Given the description of an element on the screen output the (x, y) to click on. 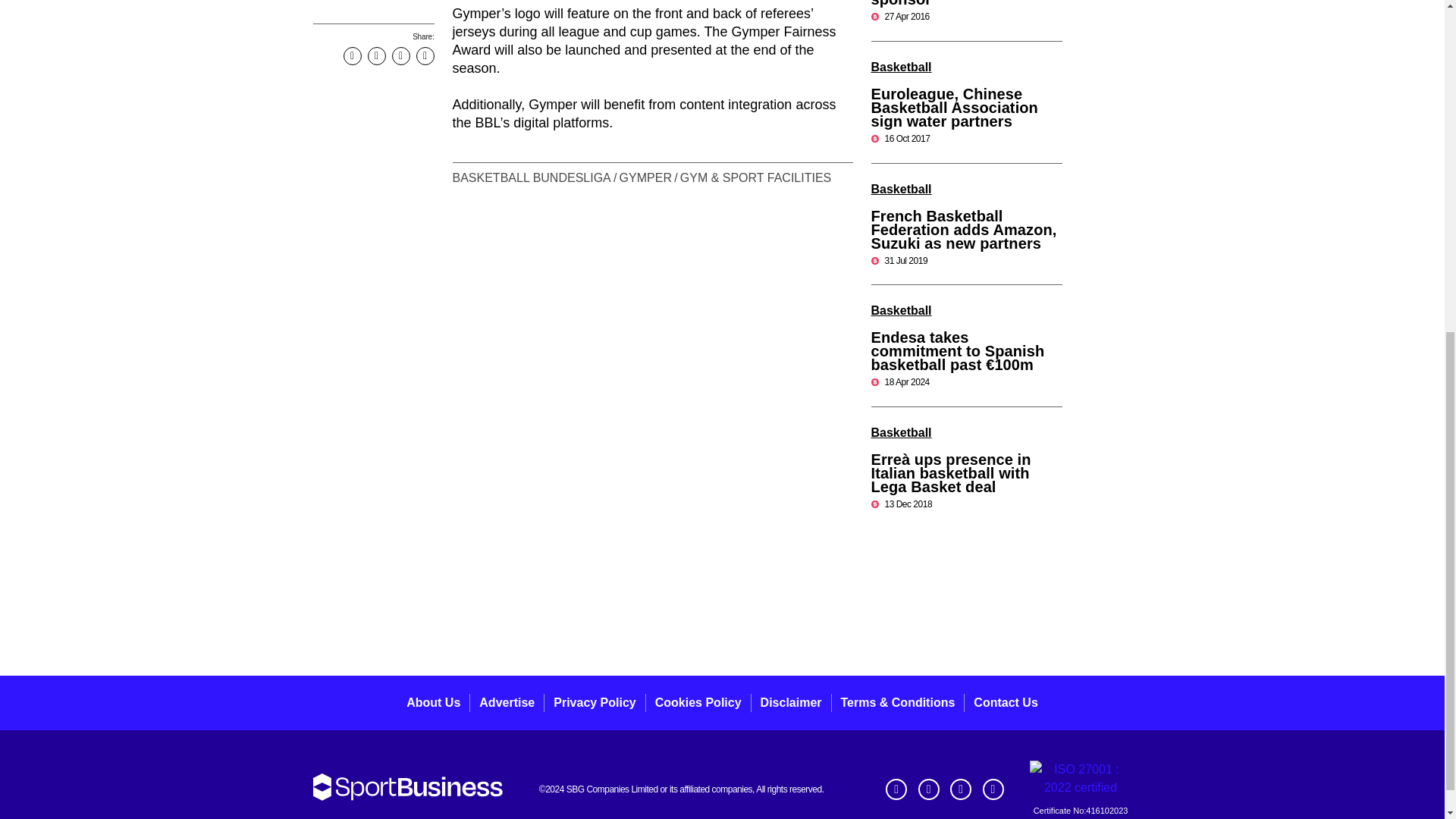
Basketball Bundesliga club extends with top-tier sponsor (963, 3)
GYMPER (644, 177)
BASKETBALL BUNDESLIGA (531, 177)
Basketball (900, 66)
ISO 27001 : 2022 (1080, 778)
